Given the description of an element on the screen output the (x, y) to click on. 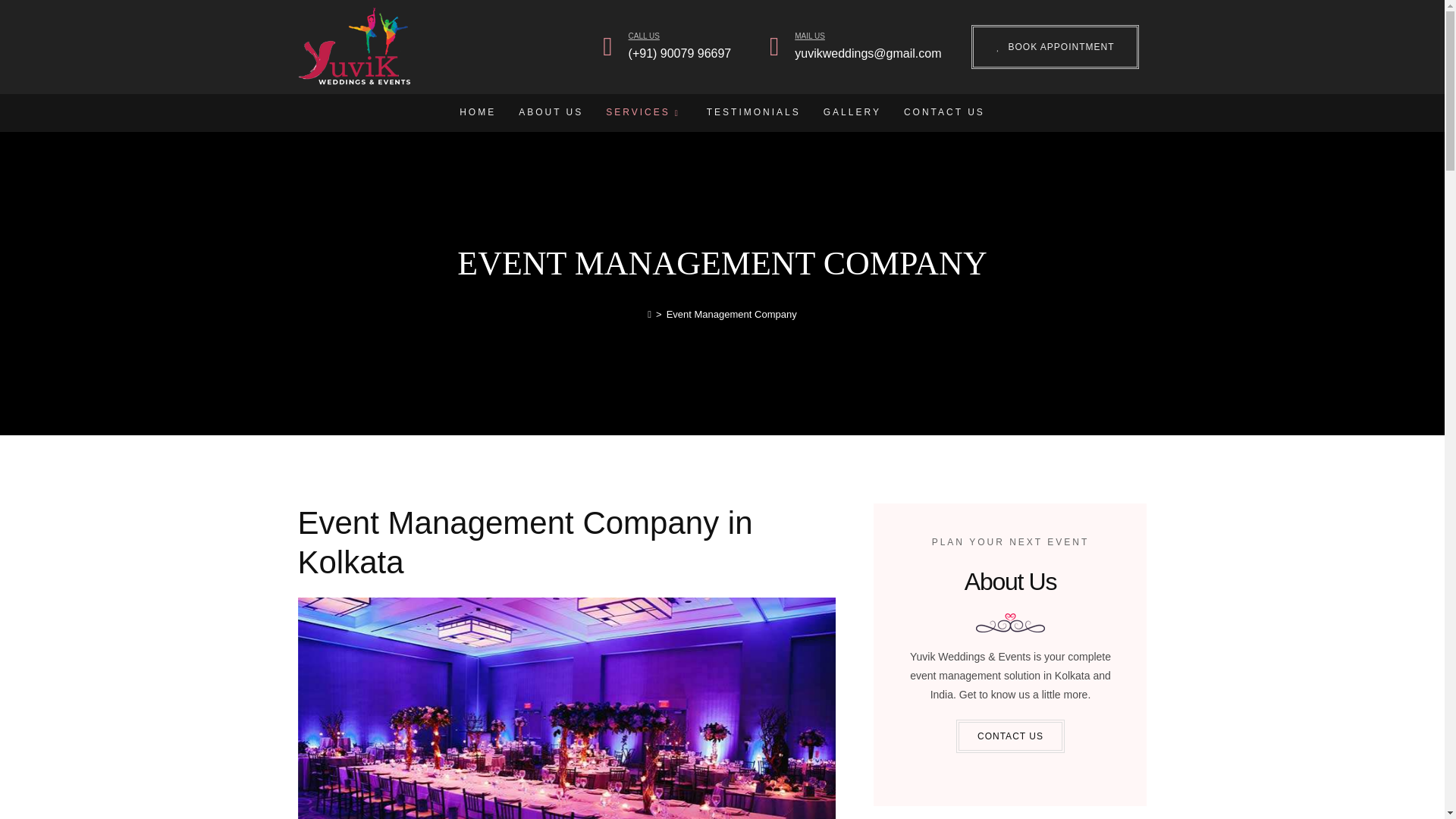
ABOUT US (550, 112)
HOME (477, 112)
BOOK APPOINTMENT (1054, 46)
SERVICES (644, 112)
